Given the description of an element on the screen output the (x, y) to click on. 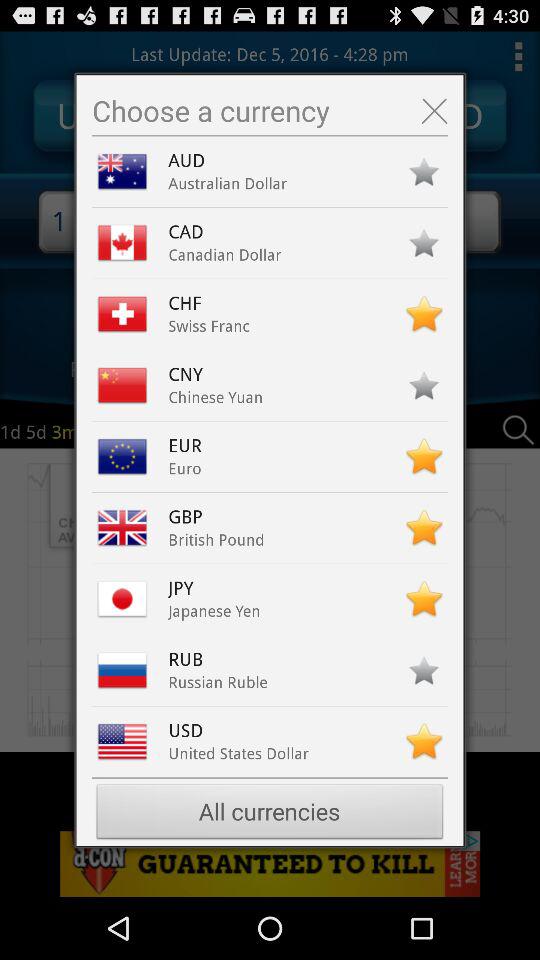
turn off the item above rub item (214, 611)
